Given the description of an element on the screen output the (x, y) to click on. 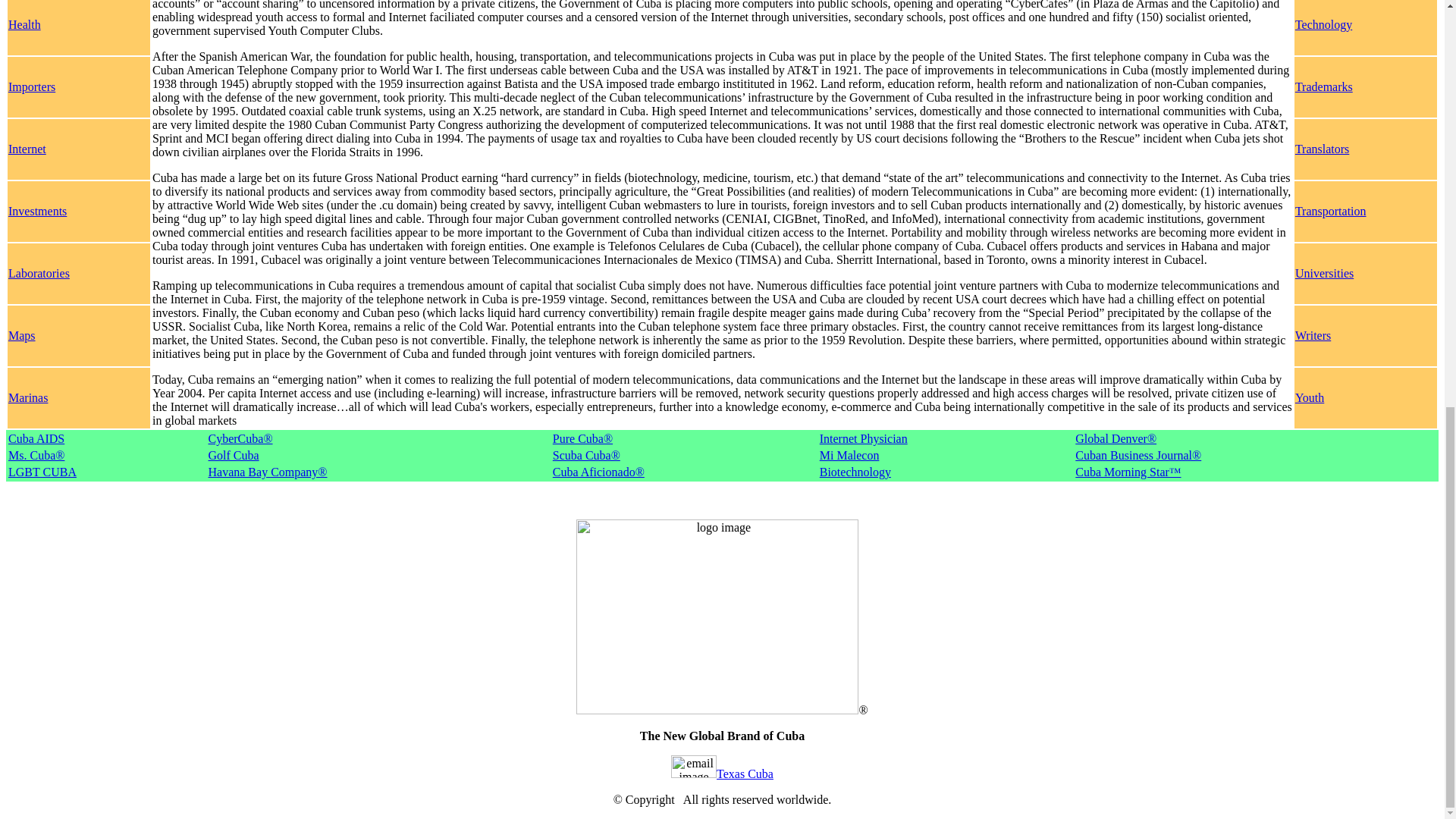
Transportation (1331, 210)
Importers (31, 86)
Investments (37, 210)
Health (24, 24)
Internet (27, 148)
Translators (1322, 148)
Trademarks (1323, 86)
Technology (1323, 24)
